Given the description of an element on the screen output the (x, y) to click on. 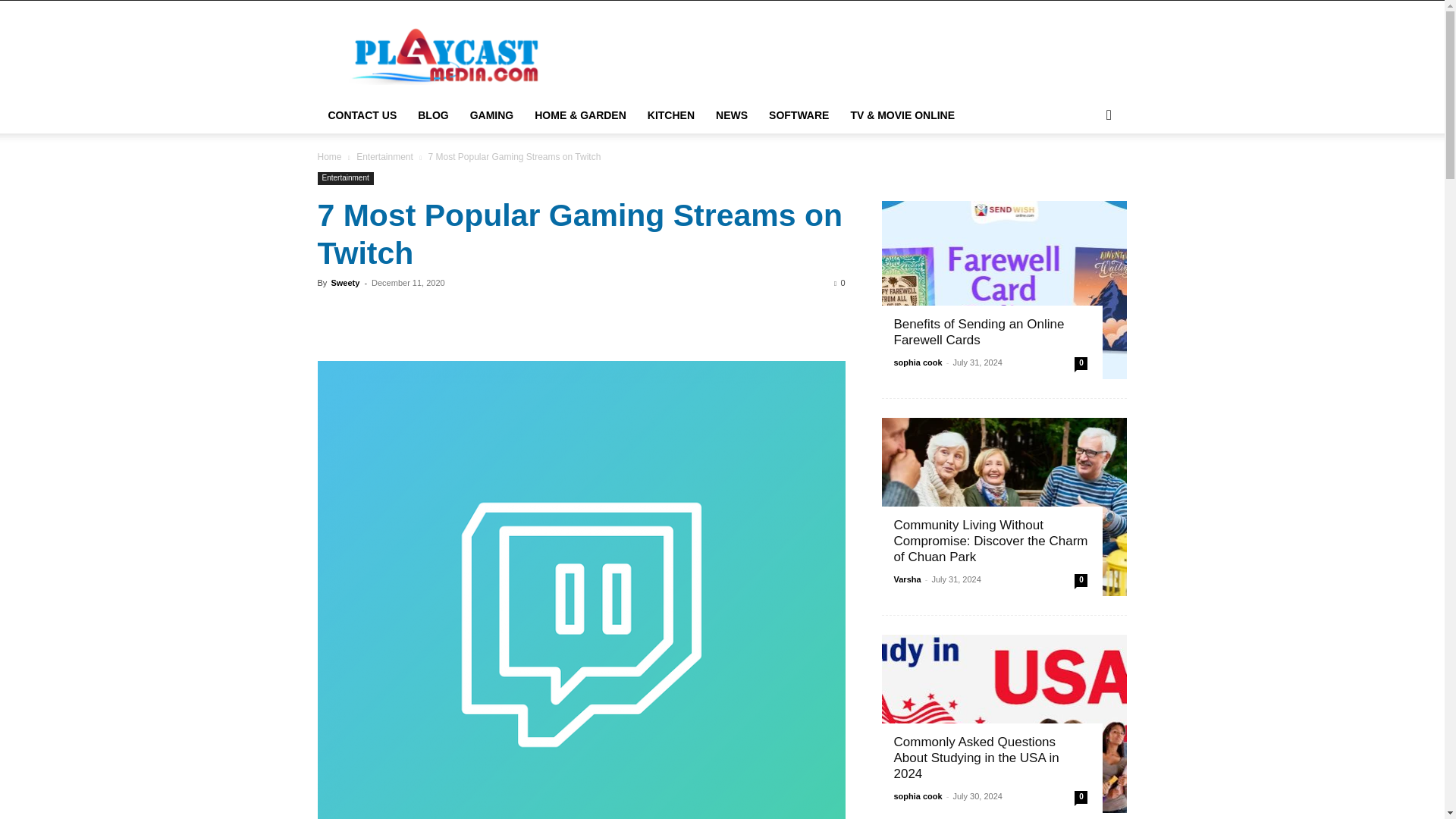
Entertainment (344, 178)
View all posts in Entertainment (384, 156)
Entertainment (384, 156)
BLOG (432, 115)
Home (328, 156)
Sweety (344, 282)
CONTACT US (362, 115)
GAMING (492, 115)
0 (839, 282)
